Given the description of an element on the screen output the (x, y) to click on. 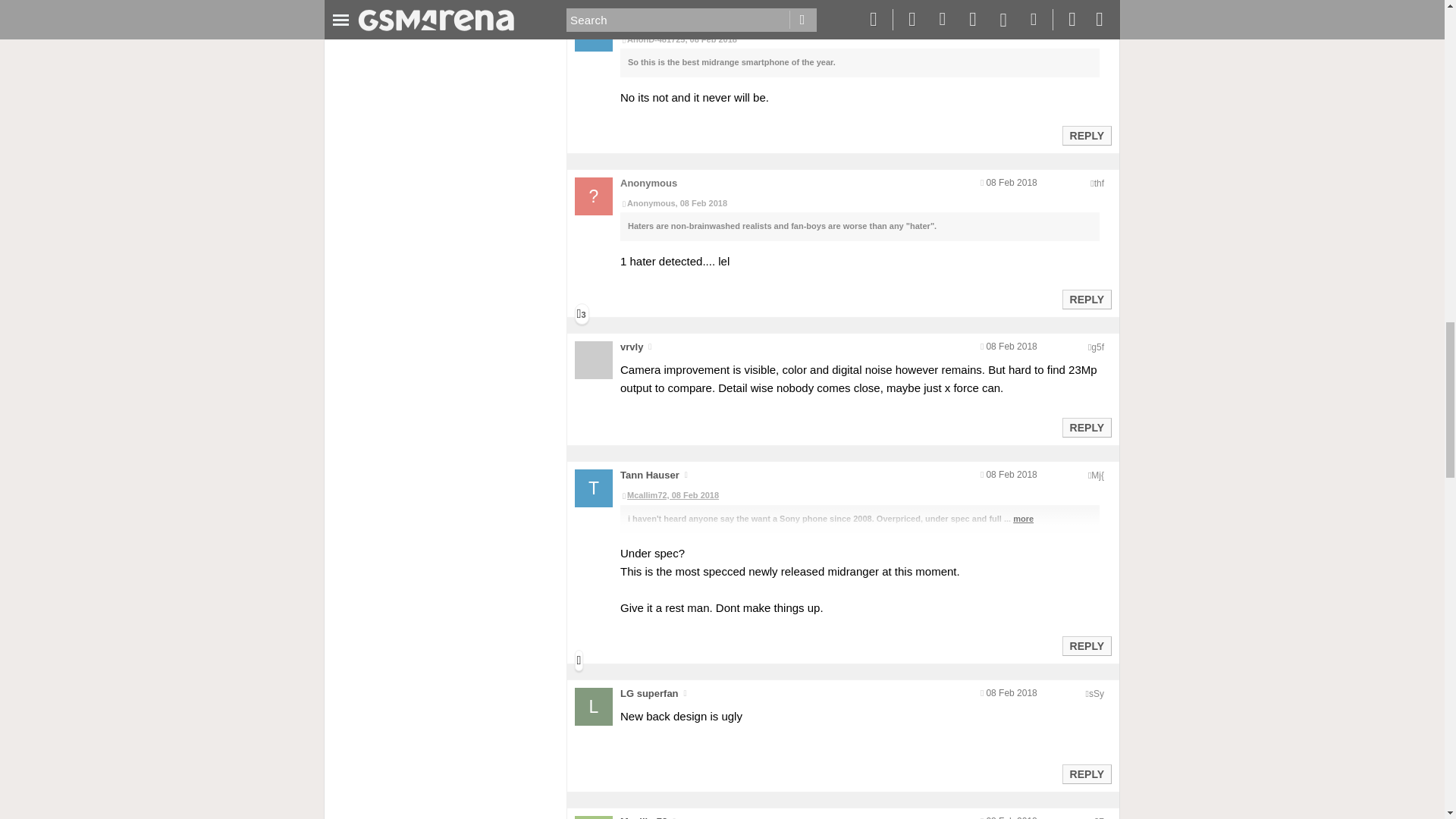
Reply to this post (1086, 135)
Encoded anonymized location (1094, 19)
Encoded anonymized location (1098, 183)
